Given the description of an element on the screen output the (x, y) to click on. 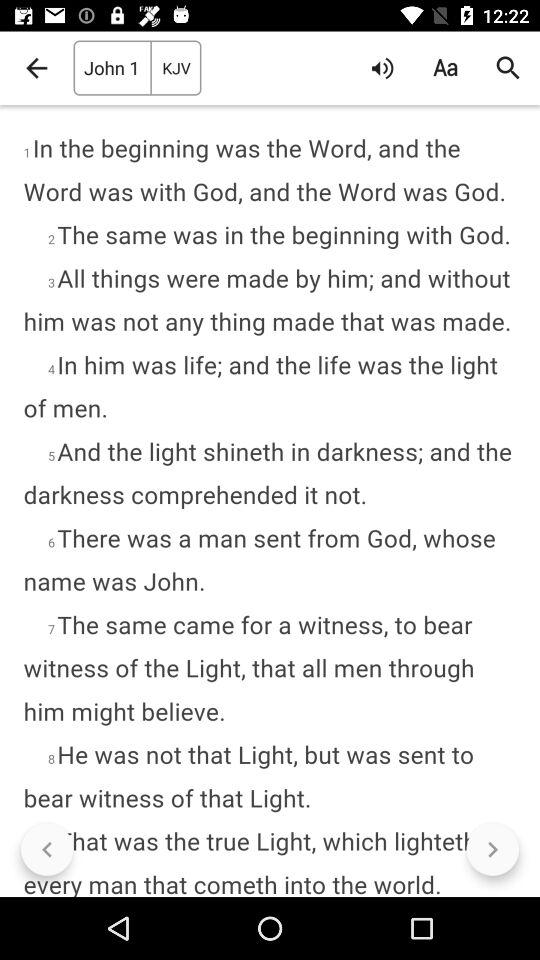
open item at the bottom right corner (492, 849)
